Given the description of an element on the screen output the (x, y) to click on. 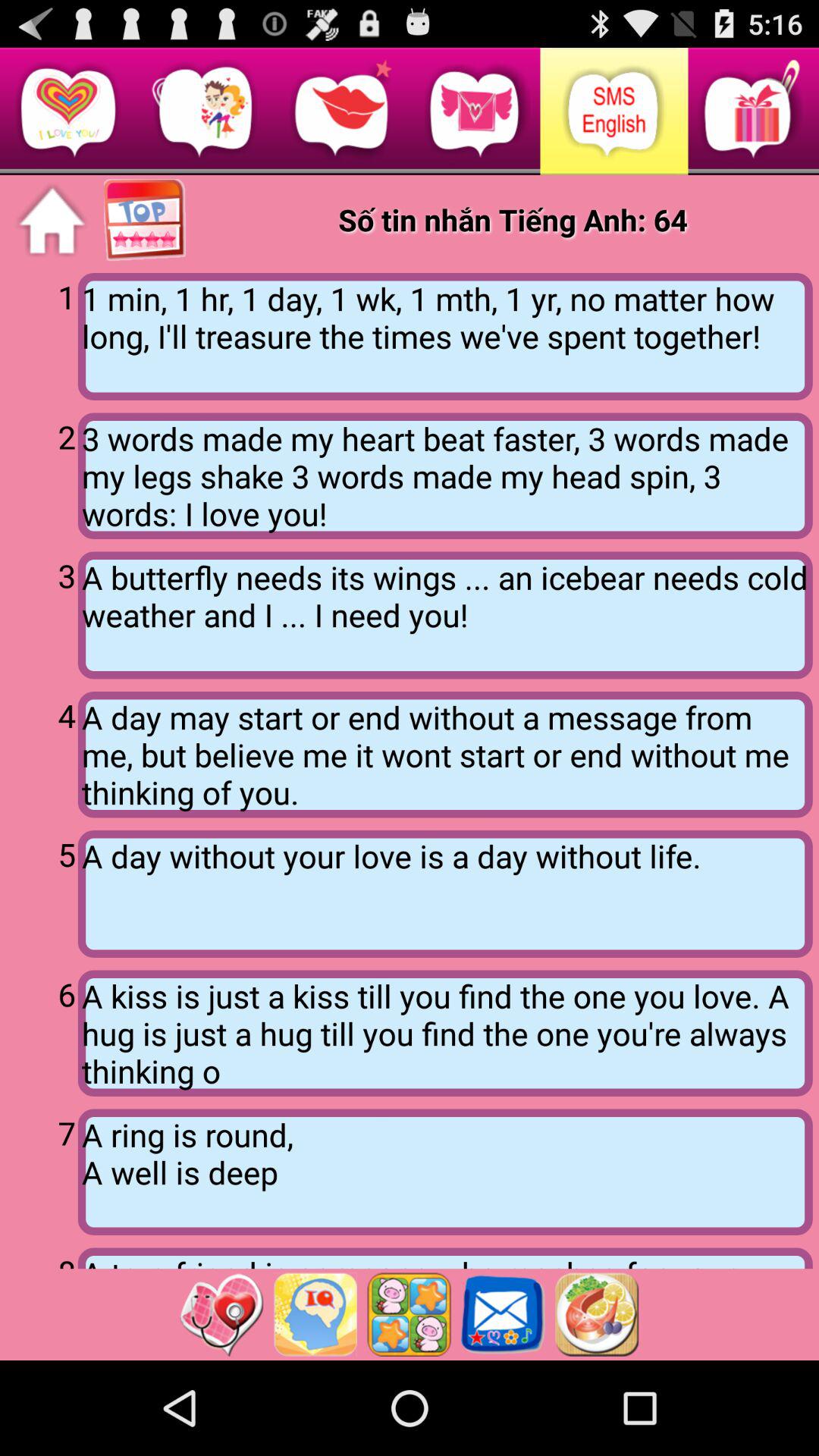
click your favourite rate (145, 220)
